Given the description of an element on the screen output the (x, y) to click on. 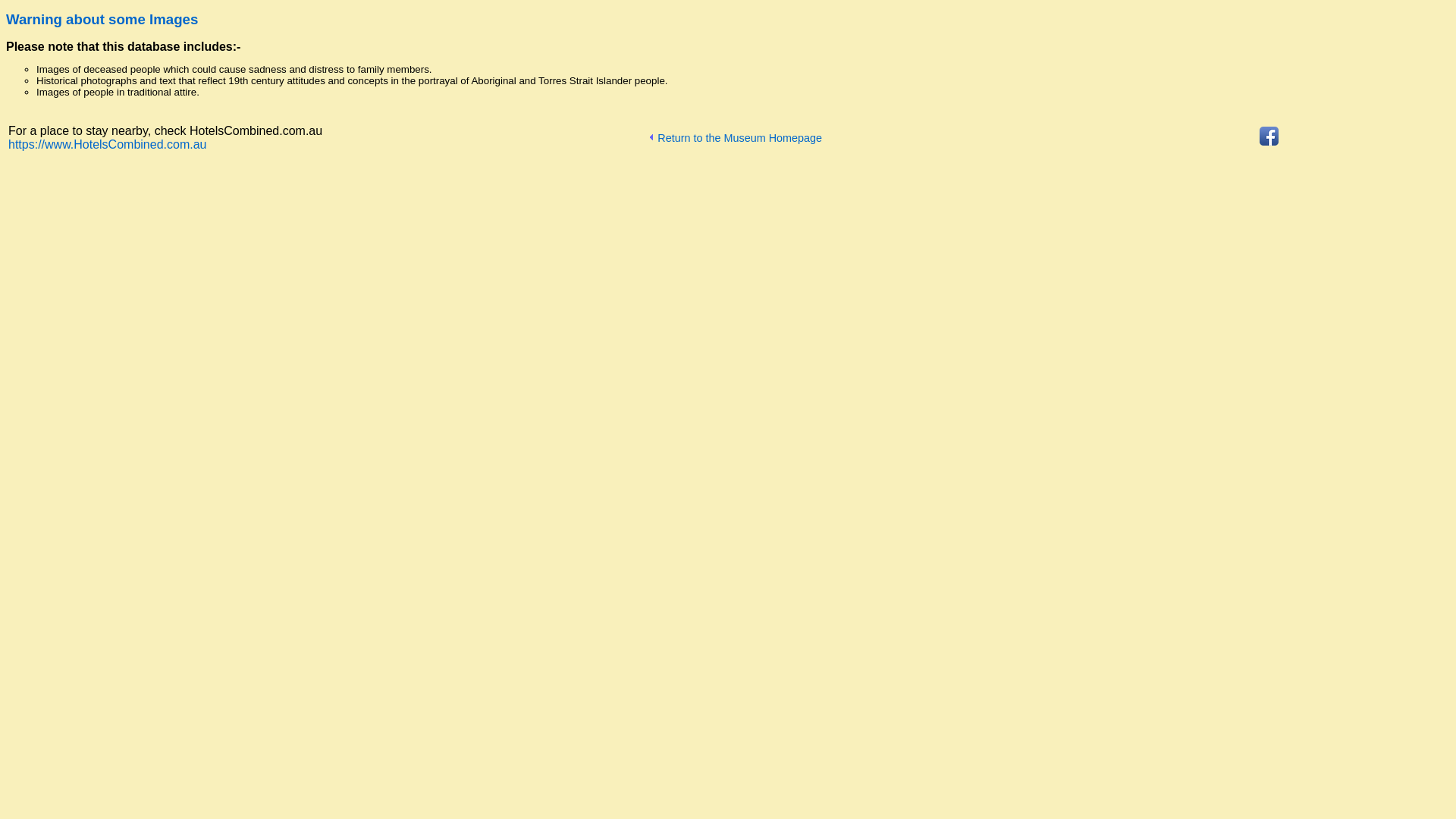
https://www.HotelsCombined.com.au Element type: text (107, 144)
Return to the Museum Homepage Element type: text (871, 137)
